Given the description of an element on the screen output the (x, y) to click on. 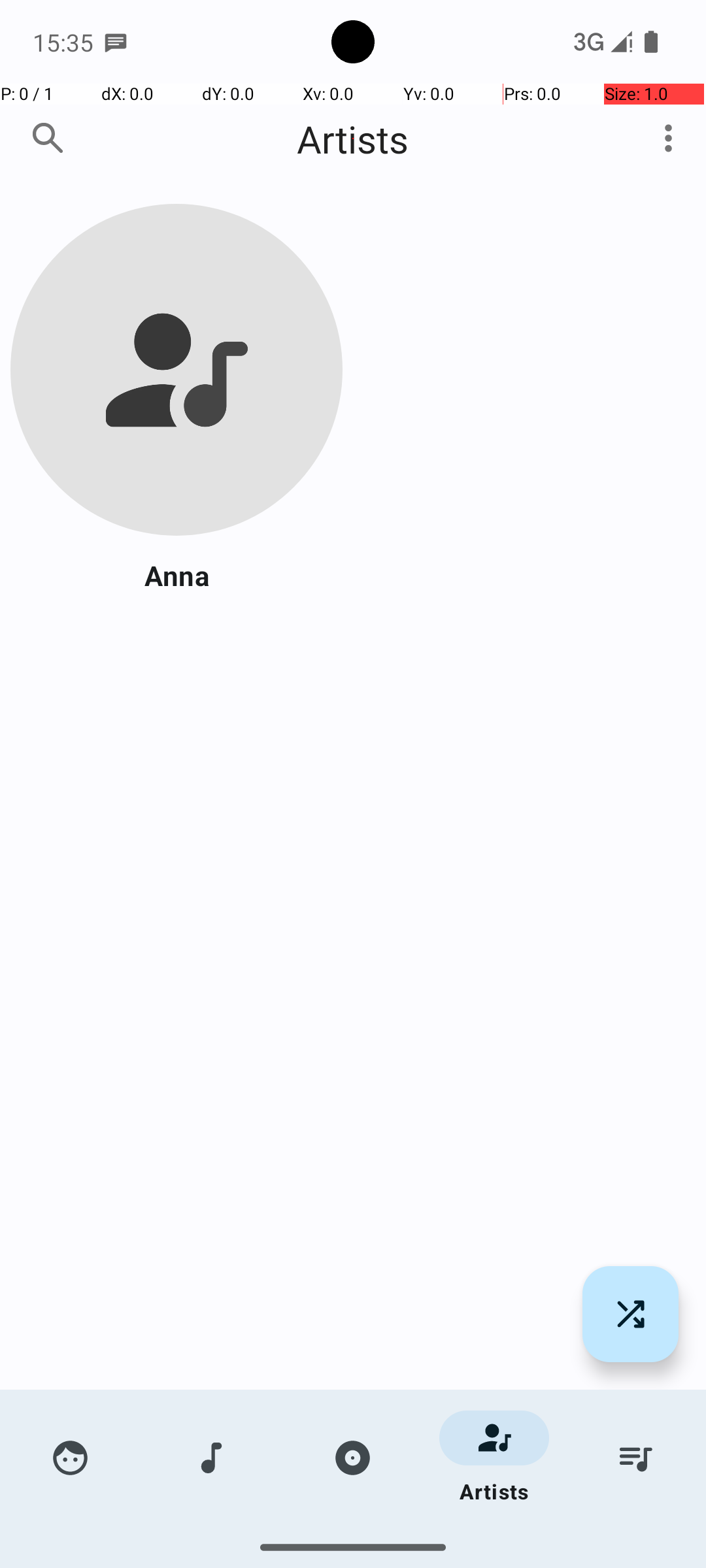
Anna Element type: android.widget.TextView (175, 574)
